Given the description of an element on the screen output the (x, y) to click on. 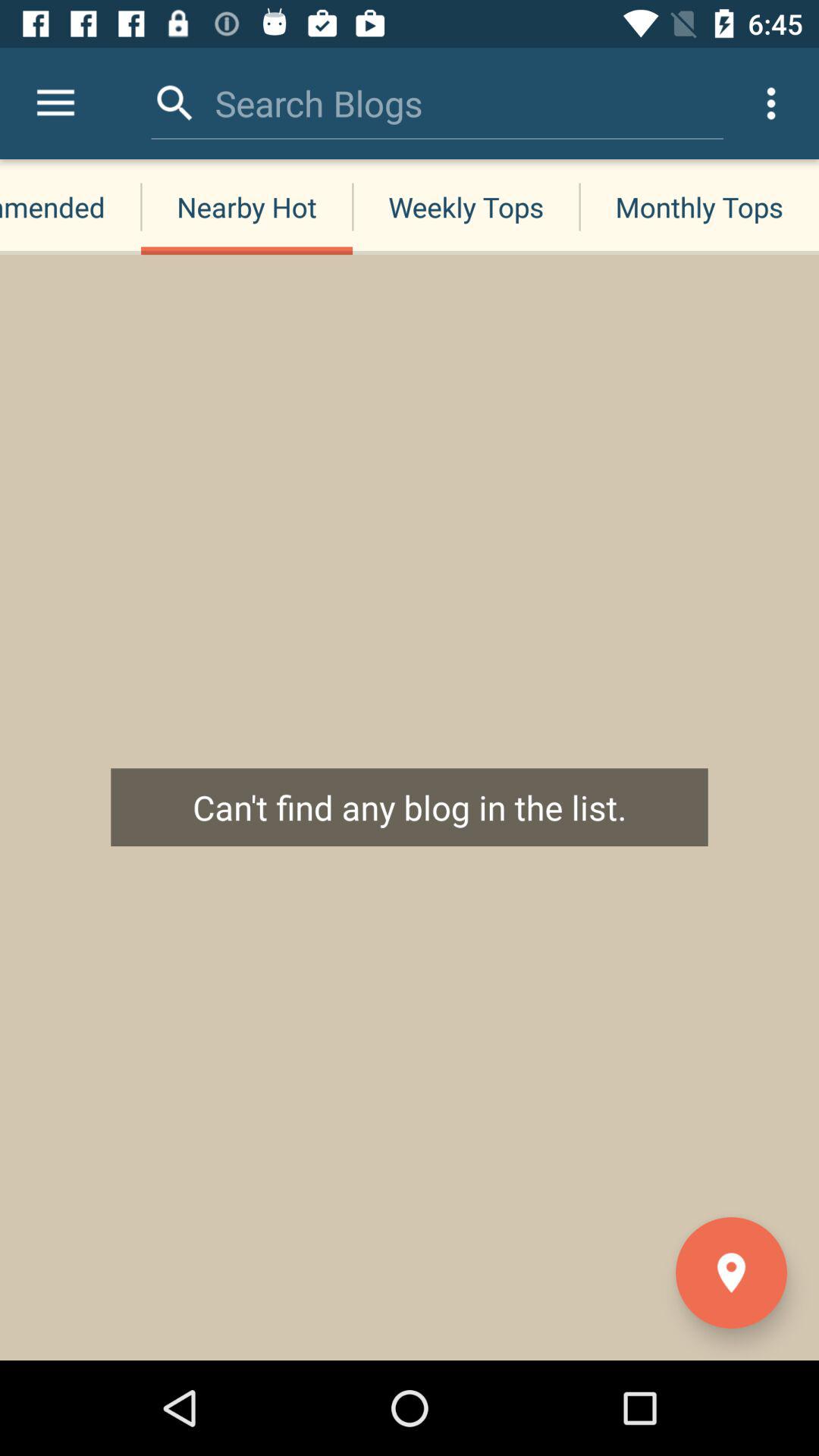
tap icon above the nearby hot (318, 103)
